Given the description of an element on the screen output the (x, y) to click on. 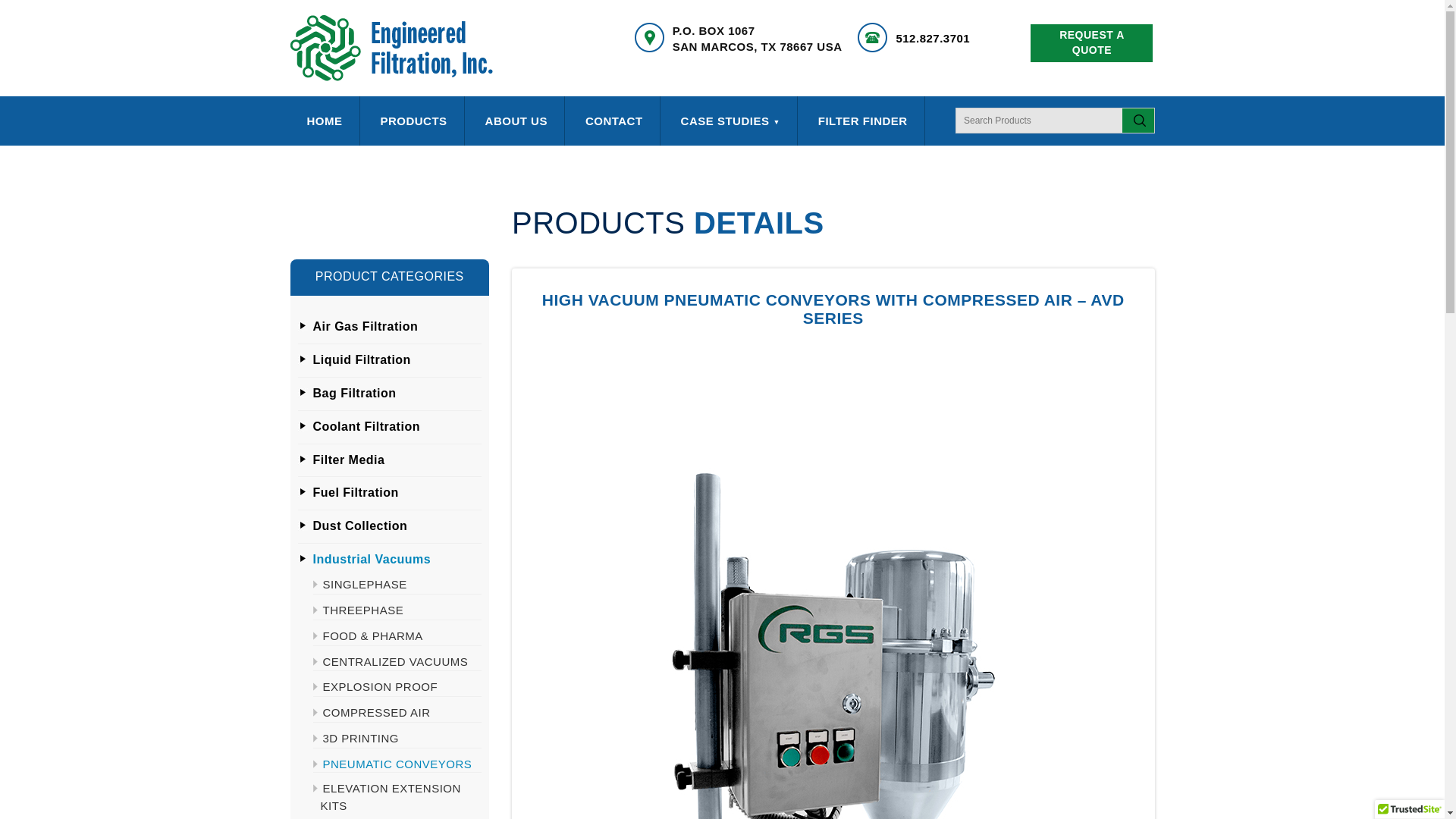
PRODUCTS (412, 120)
Bag Filtration (354, 392)
Air Gas Filtration (365, 326)
ABOUT US (516, 120)
S (1138, 120)
CASE STUDIES (729, 120)
512.827.3701 (932, 38)
FILTER FINDER (863, 120)
HOME (323, 120)
CONTACT (614, 120)
REQUEST A QUOTE (1091, 43)
Liquid Filtration (361, 359)
